Given the description of an element on the screen output the (x, y) to click on. 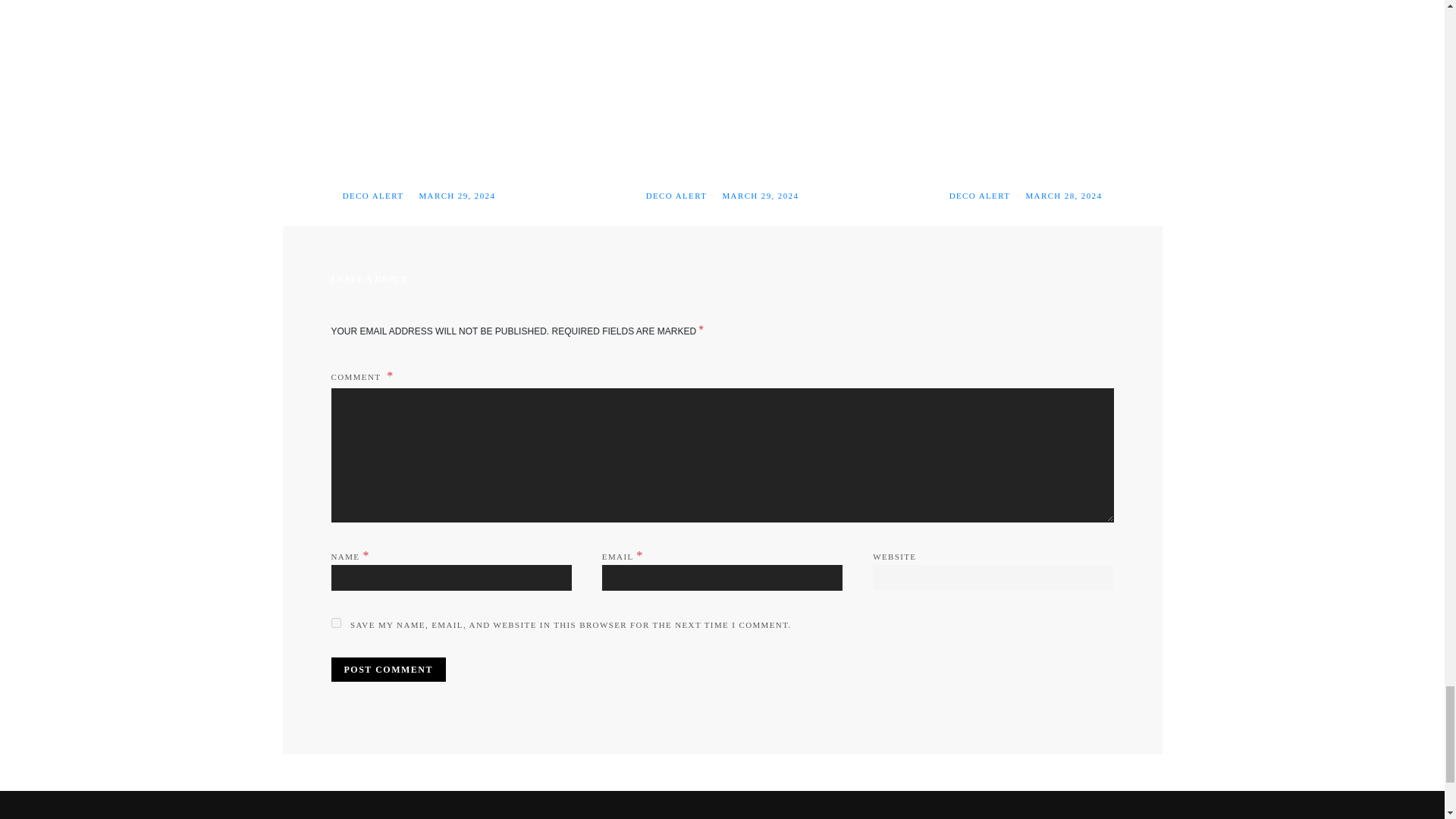
yes (335, 623)
Post Comment (387, 669)
View all posts by Deco Alert (676, 194)
View all posts by Deco Alert (979, 194)
View all posts by Deco Alert (373, 194)
